Given the description of an element on the screen output the (x, y) to click on. 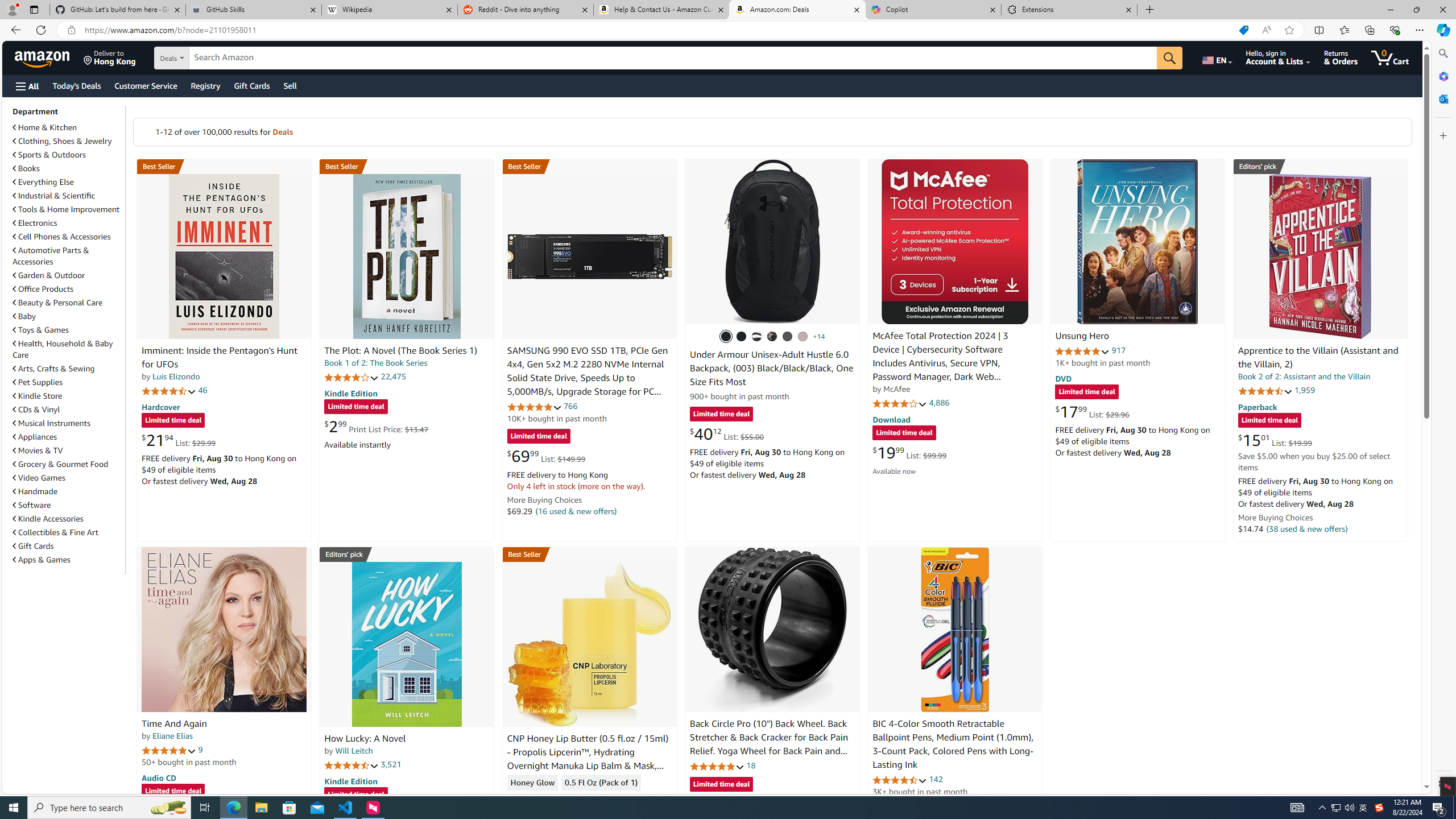
4.6 out of 5 stars (899, 779)
Wikipedia (390, 9)
Sell (290, 85)
Automotive Parts & Accessories (50, 255)
Choose a language for shopping. (1216, 57)
Electronics (34, 222)
App bar (728, 29)
Kindle Accessories (47, 518)
46 (203, 390)
Beauty & Personal Care (58, 302)
Customer Service (145, 85)
Appliances (67, 436)
